Given the description of an element on the screen output the (x, y) to click on. 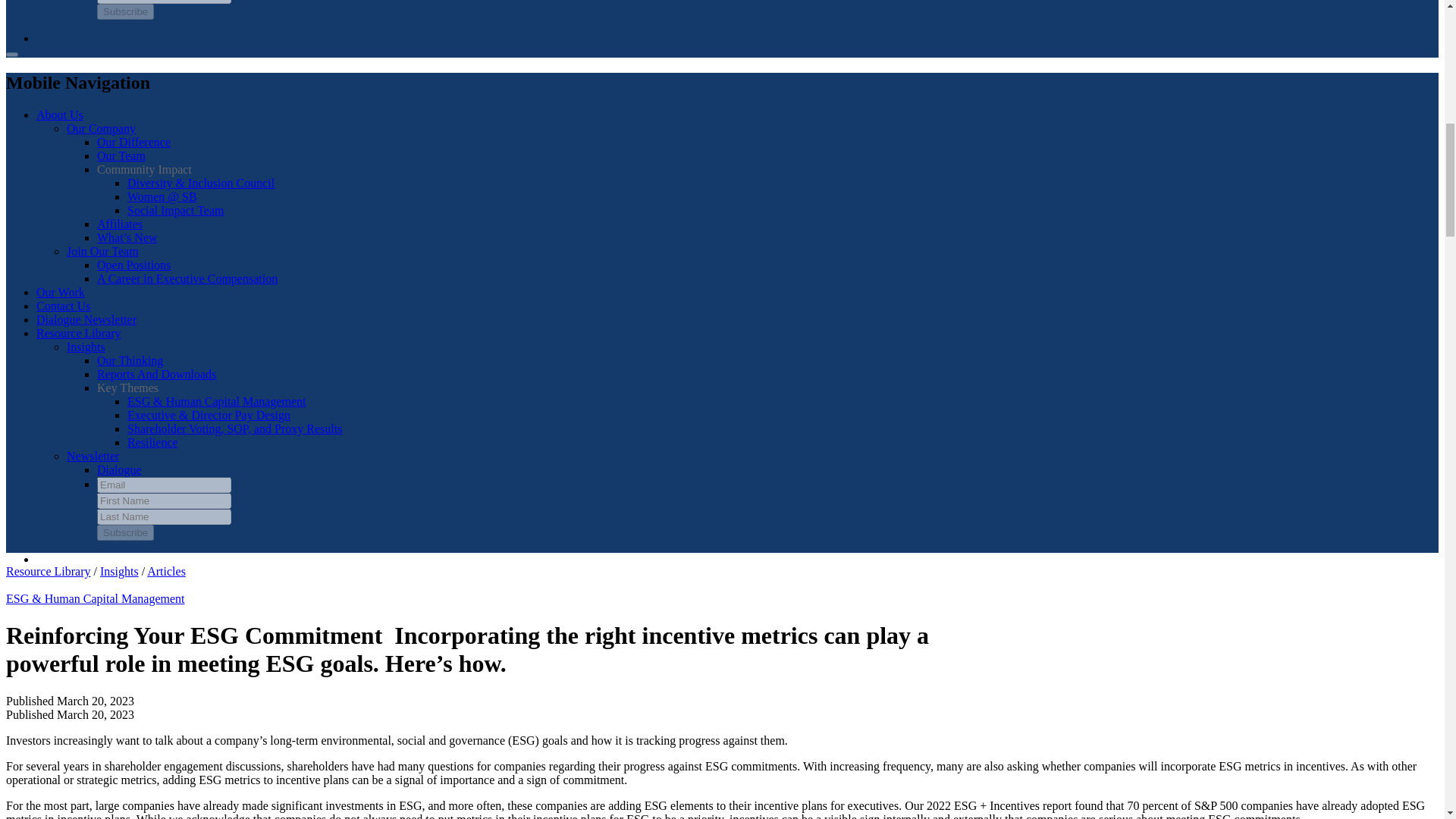
our-difference (133, 141)
affiliates (119, 223)
Community Impact (144, 169)
key-themes (127, 387)
whats-new (127, 237)
Our Team (121, 155)
insights (156, 373)
Our Difference (133, 141)
insights (130, 359)
dialogue (119, 469)
Our Company (100, 128)
Subscribe (125, 11)
dialogue (86, 318)
About Us (59, 114)
